Given the description of an element on the screen output the (x, y) to click on. 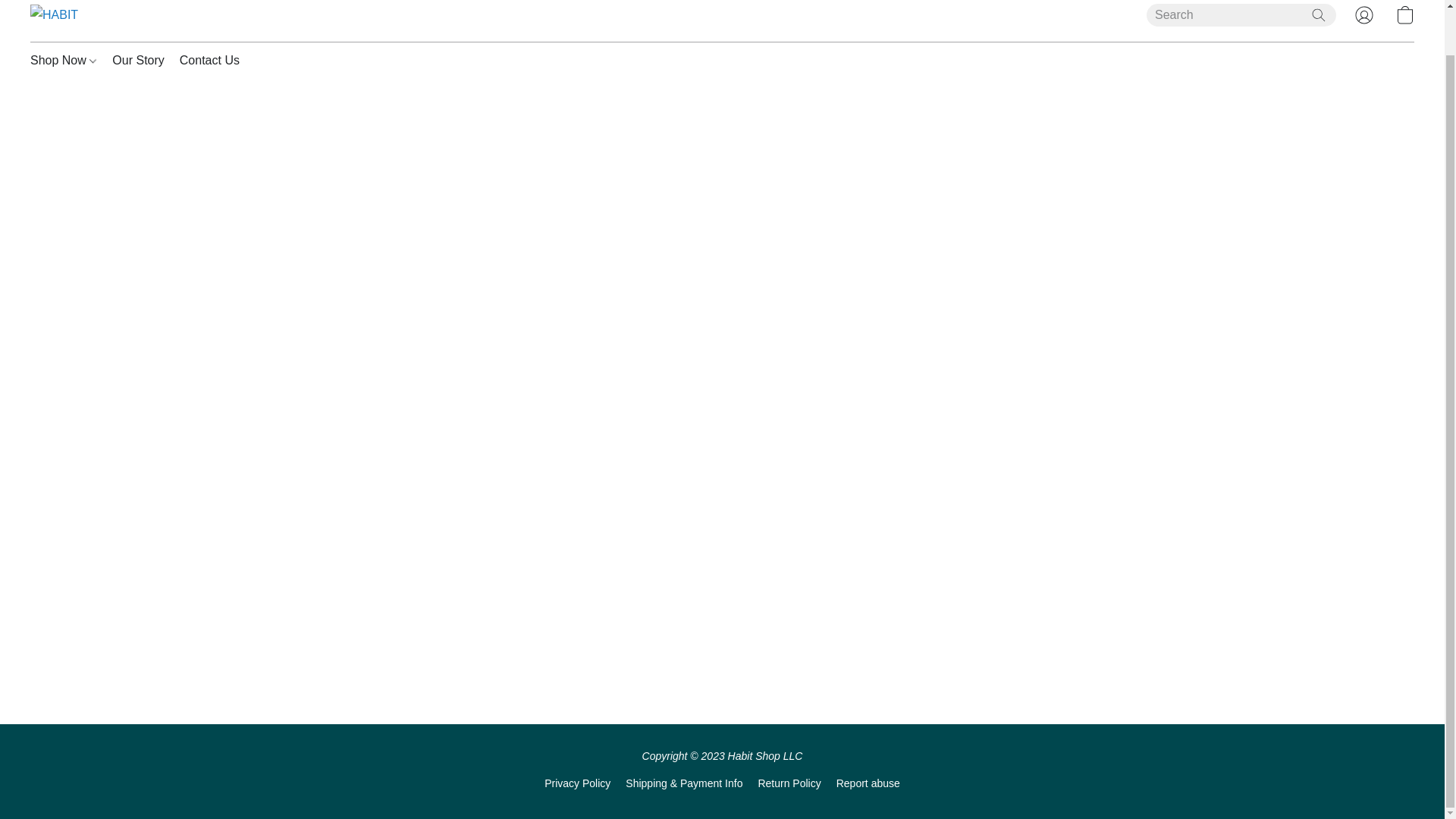
Report abuse (867, 782)
Go to your shopping cart (1404, 15)
Our Story (137, 60)
Return Policy (789, 782)
Shop Now (67, 60)
Contact Us (205, 60)
Privacy Policy (577, 782)
